Given the description of an element on the screen output the (x, y) to click on. 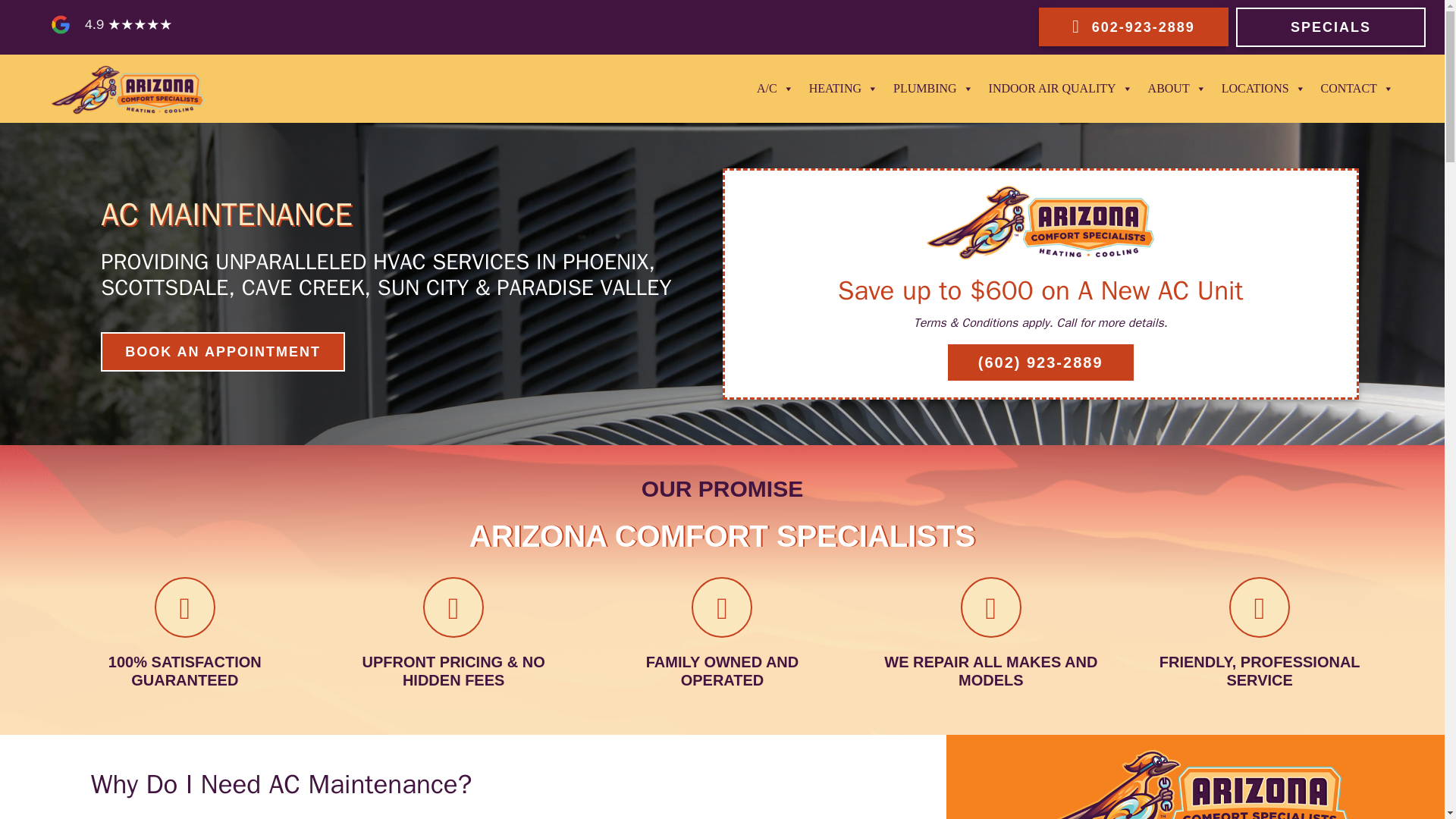
HEATING (843, 88)
INDOOR AIR QUALITY (1060, 88)
PLUMBING (933, 88)
companylogo (1195, 784)
Submit (881, 393)
companylogo (1040, 222)
Submit (989, 393)
Google Rainbow Icon (59, 24)
SPECIALS (1330, 26)
602-923-2889 (1133, 26)
